Given the description of an element on the screen output the (x, y) to click on. 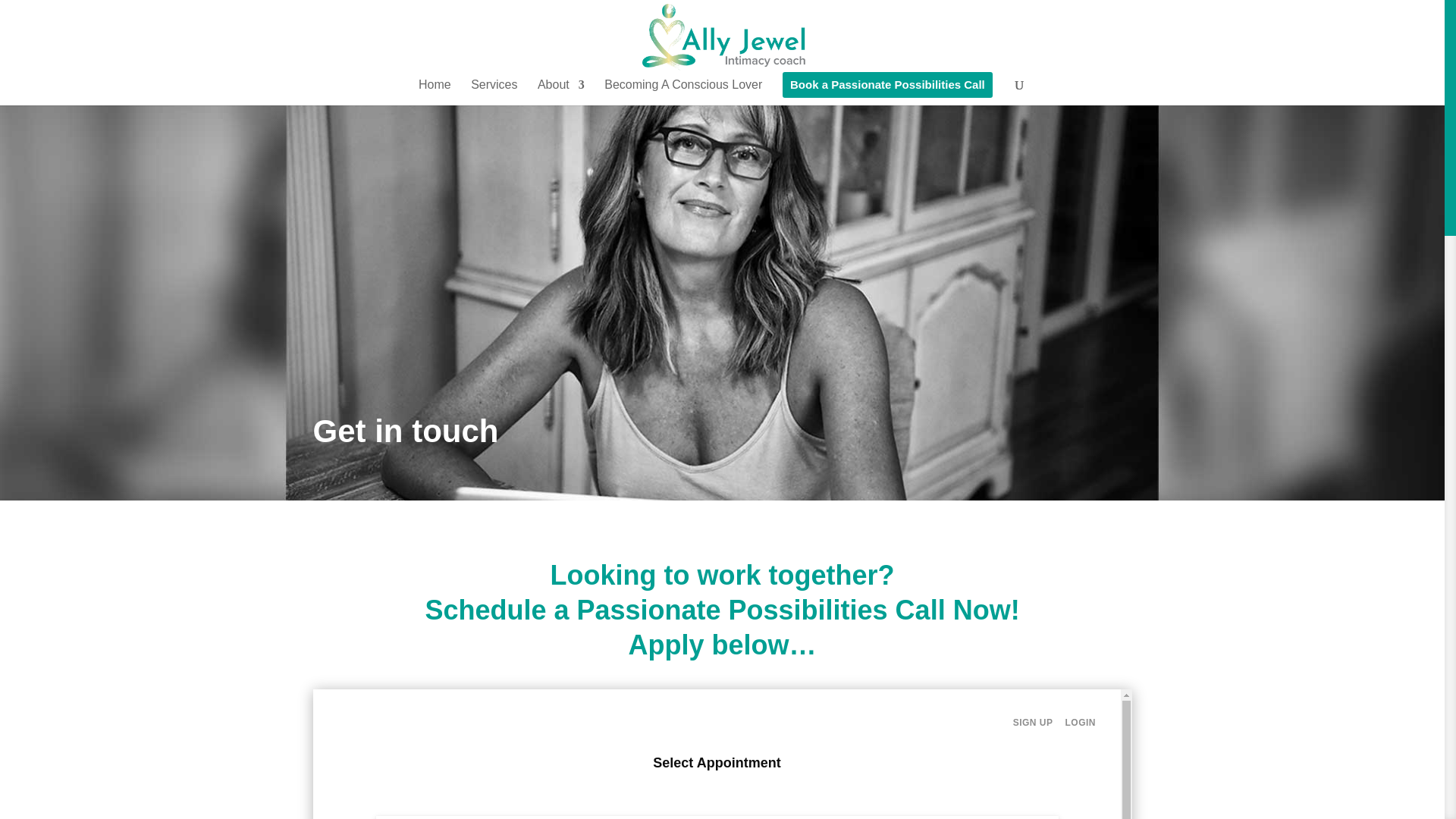
Becoming A Conscious Lover (682, 91)
Book a Passionate Possibilities Call (888, 88)
About (561, 91)
Home (435, 91)
Schedule Appointment (722, 754)
Services (493, 91)
